Given the description of an element on the screen output the (x, y) to click on. 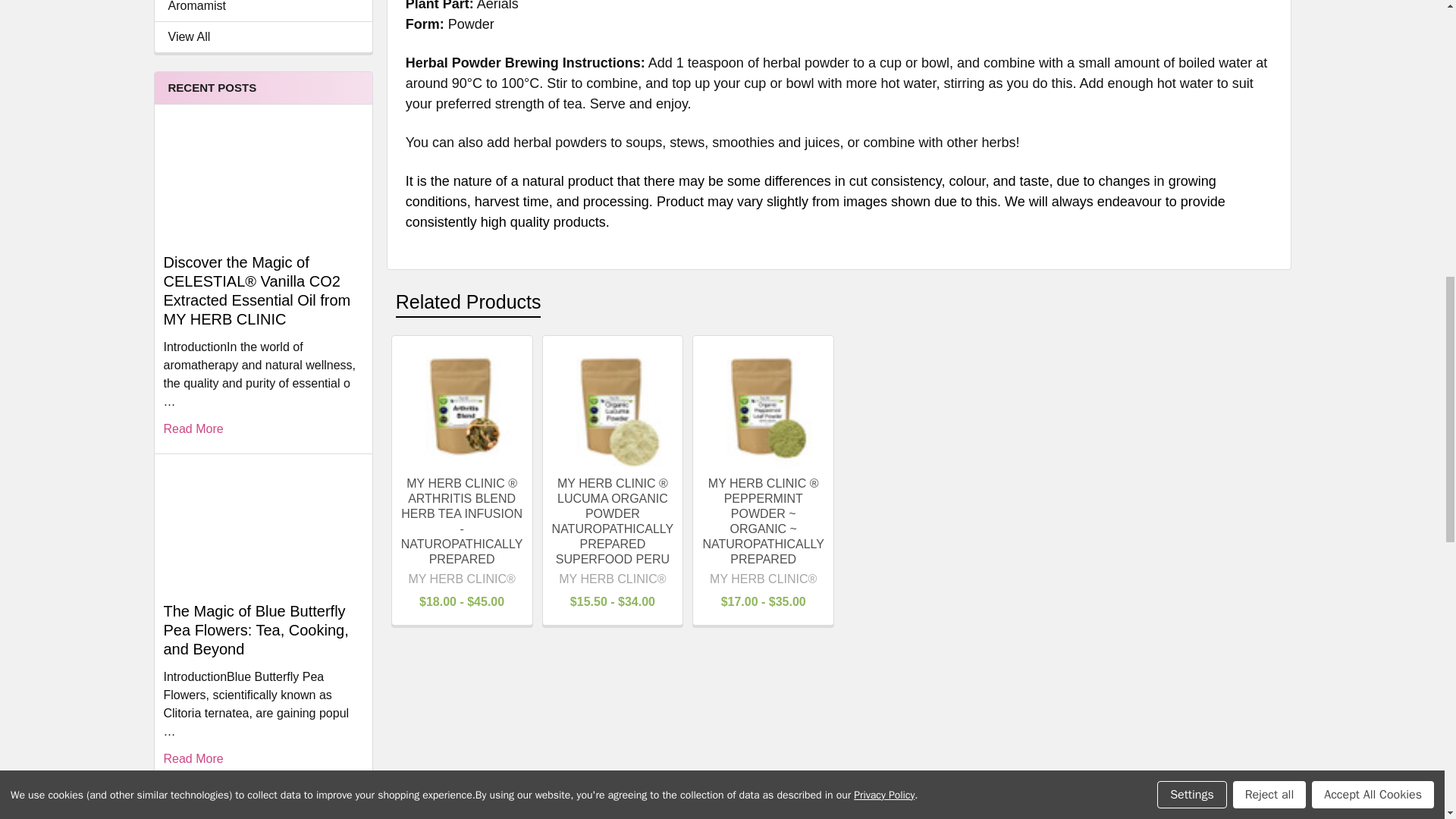
Aromamist (263, 7)
